Given the description of an element on the screen output the (x, y) to click on. 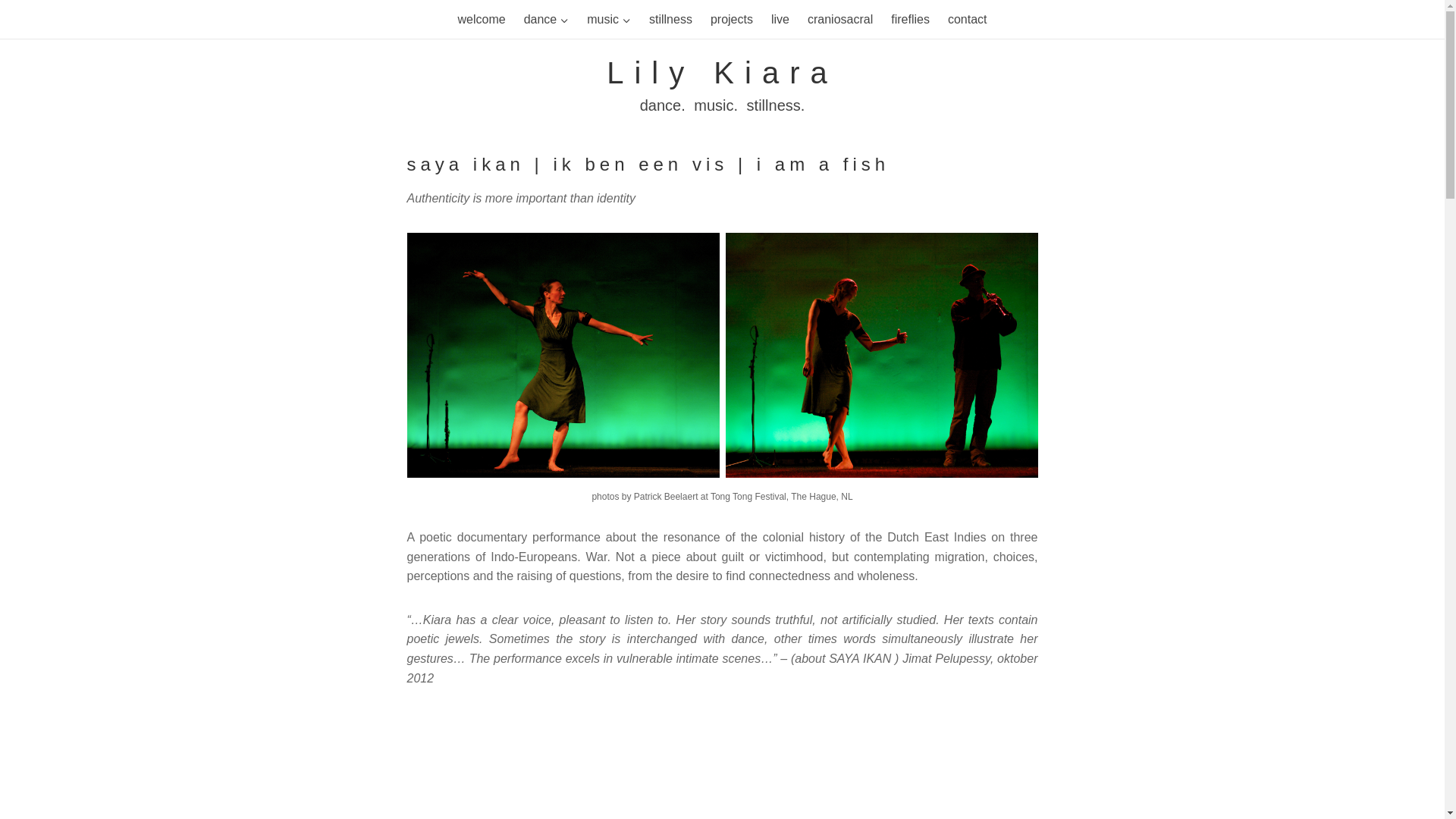
dance (546, 19)
SAYA IKAN trailer (721, 765)
stillness (670, 19)
projects (722, 86)
welcome (731, 19)
music (480, 19)
live (609, 19)
craniosacral (779, 19)
contact (839, 19)
